Given the description of an element on the screen output the (x, y) to click on. 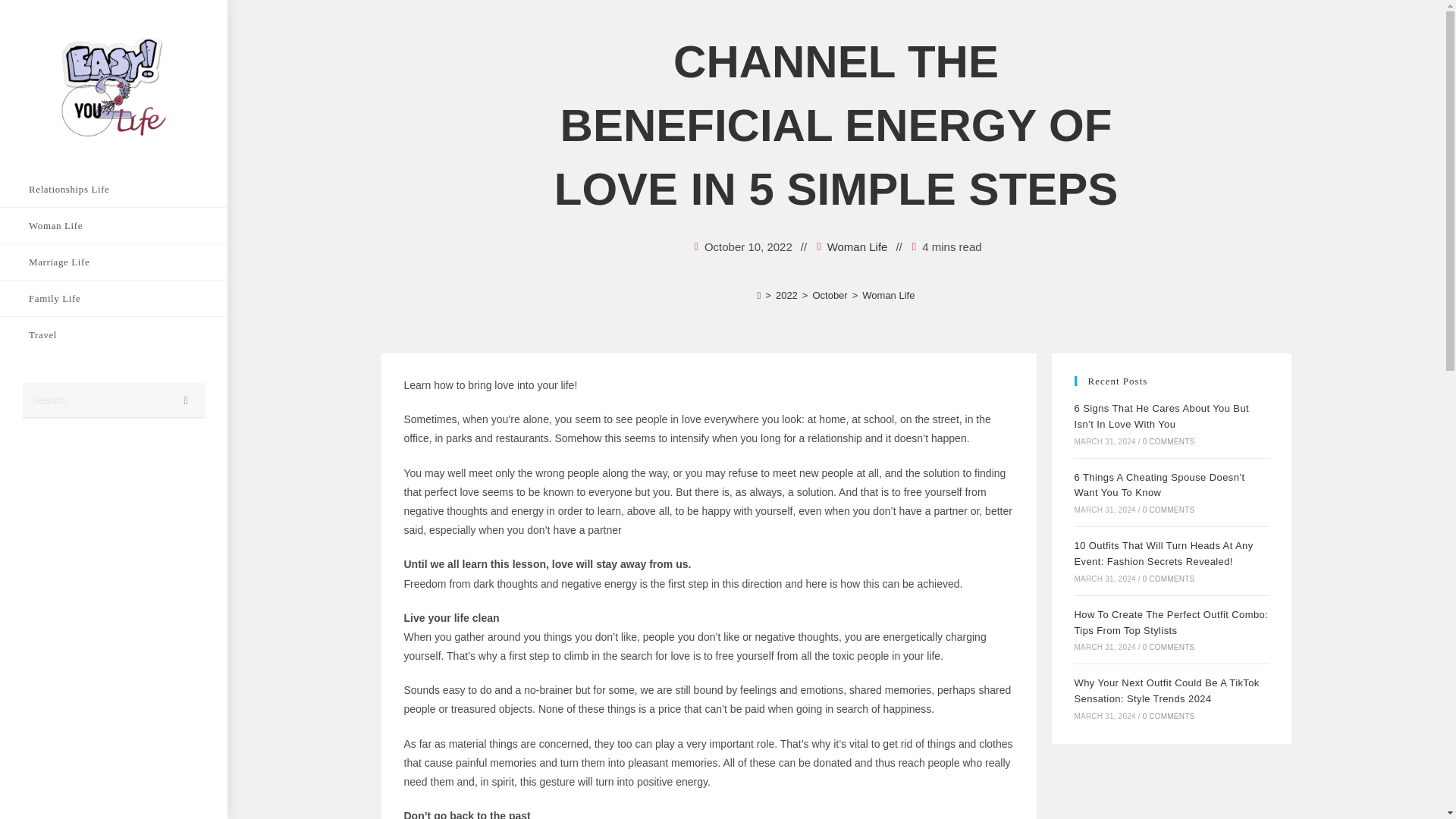
2022 (786, 295)
Family Life (113, 298)
October (829, 295)
Woman Life (857, 246)
Travel (113, 334)
Relationships Life (113, 189)
0 COMMENTS (1168, 441)
Marriage Life (113, 262)
Woman Life (113, 225)
Submit search (186, 400)
0 COMMENTS (1168, 510)
0 COMMENTS (1168, 646)
